Given the description of an element on the screen output the (x, y) to click on. 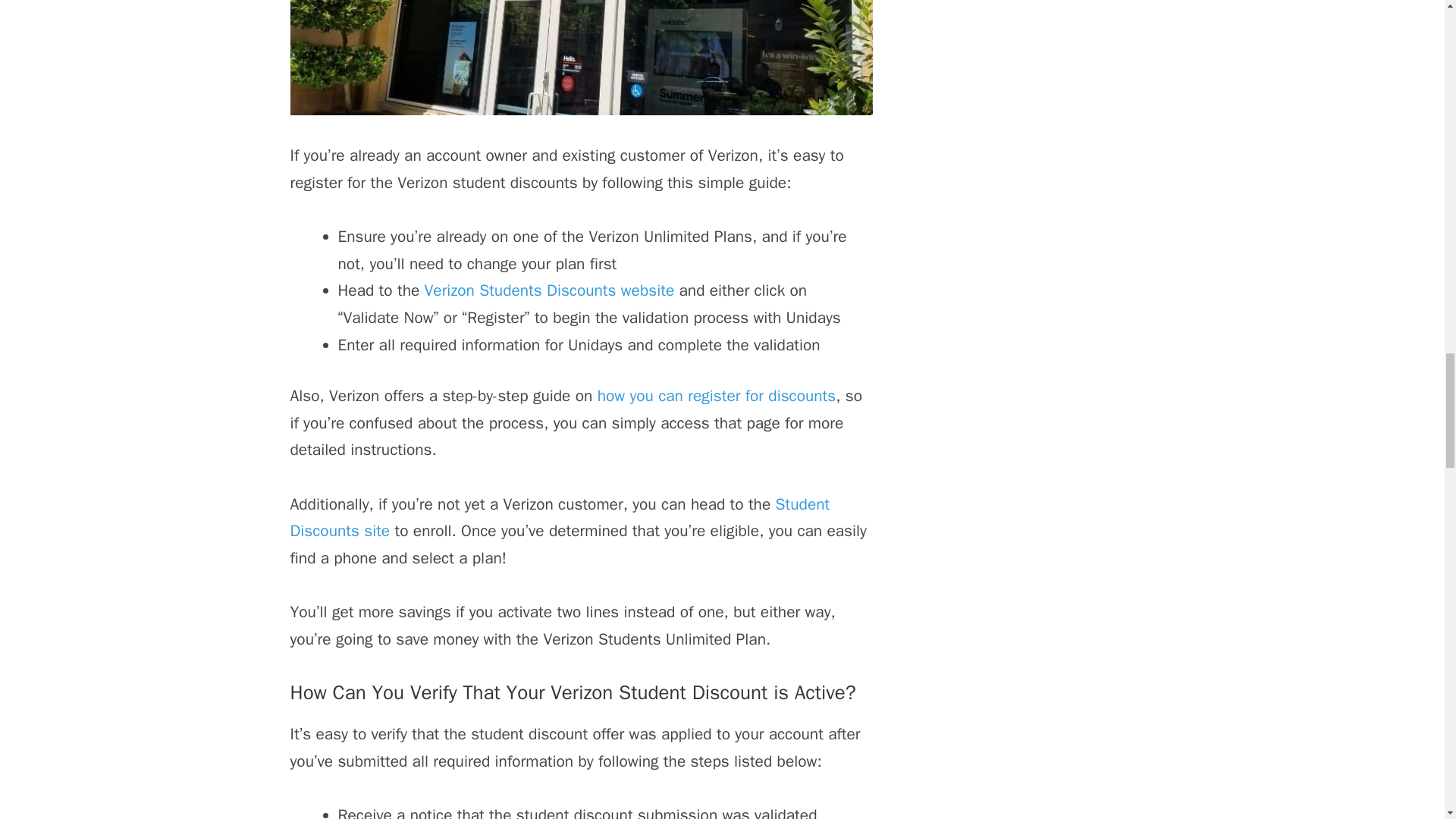
Student Discounts site (559, 517)
Verizon Students Discounts website (550, 290)
how you can register for discounts (715, 395)
